Given the description of an element on the screen output the (x, y) to click on. 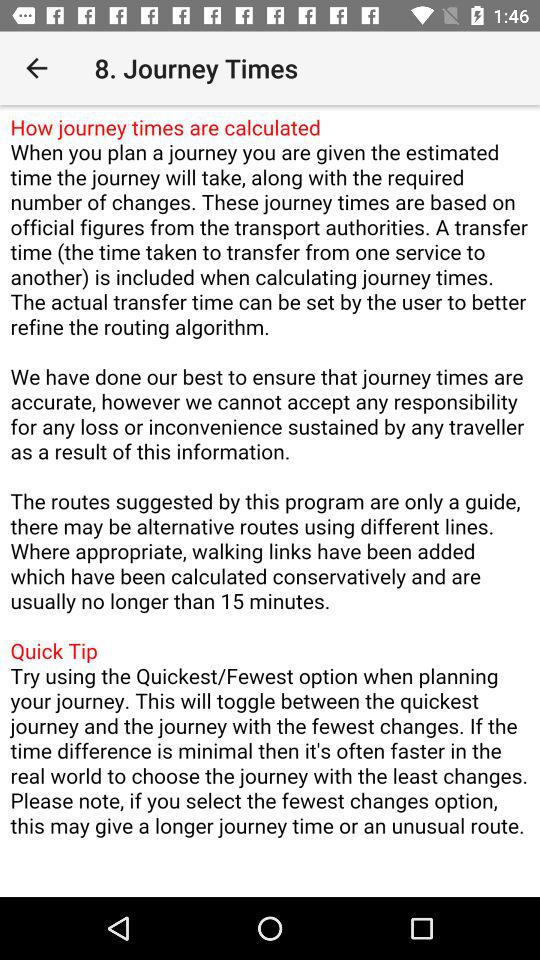
click item next to 8. journey times item (36, 68)
